Given the description of an element on the screen output the (x, y) to click on. 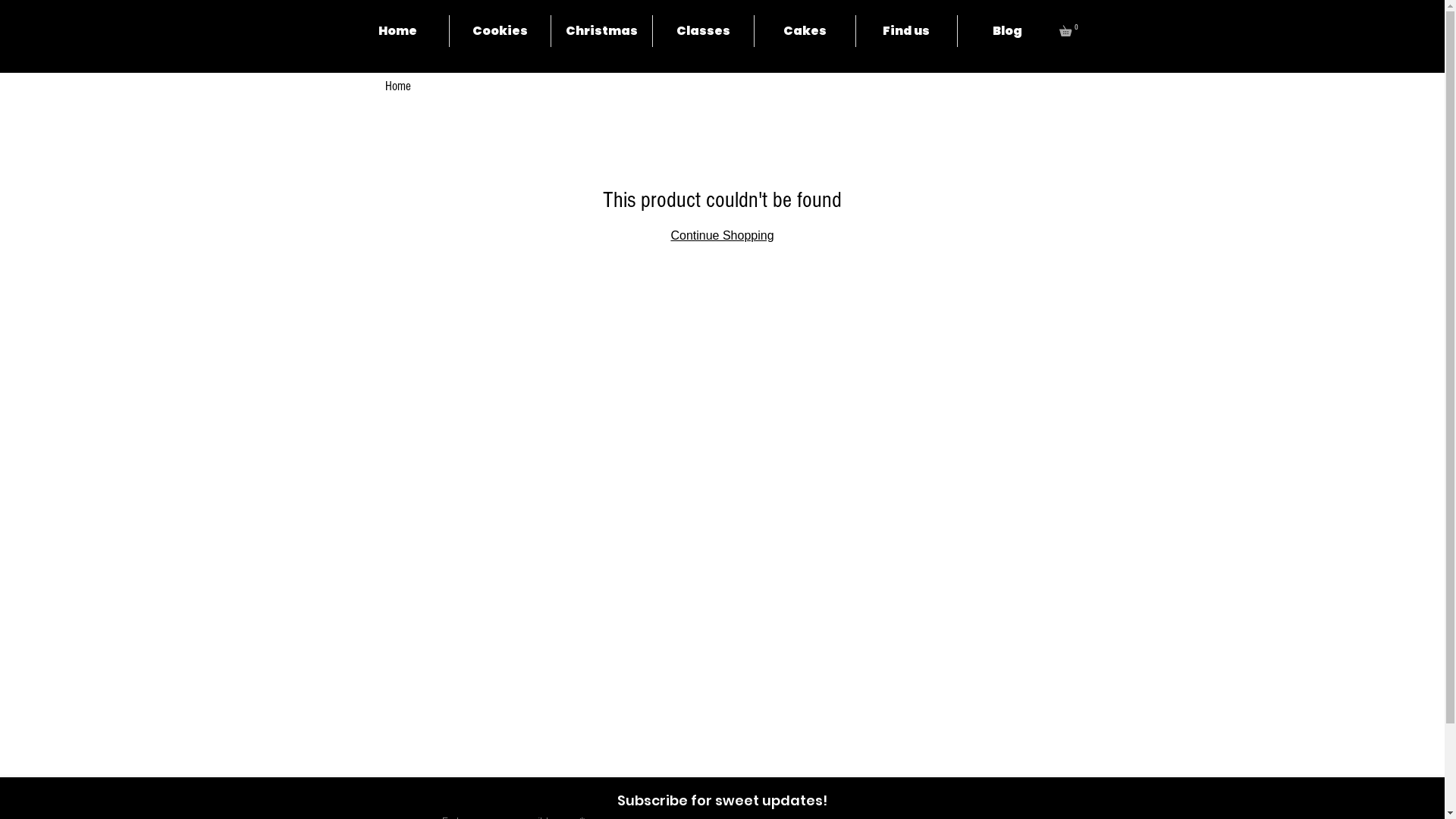
Christmas Element type: text (601, 31)
Blog Element type: text (1007, 31)
Find us Element type: text (906, 31)
Home Element type: text (397, 31)
0 Element type: text (1069, 28)
Cookies Element type: text (499, 31)
Classes Element type: text (702, 31)
Cakes Element type: text (804, 31)
Continue Shopping Element type: text (721, 235)
Home Element type: text (398, 85)
